Given the description of an element on the screen output the (x, y) to click on. 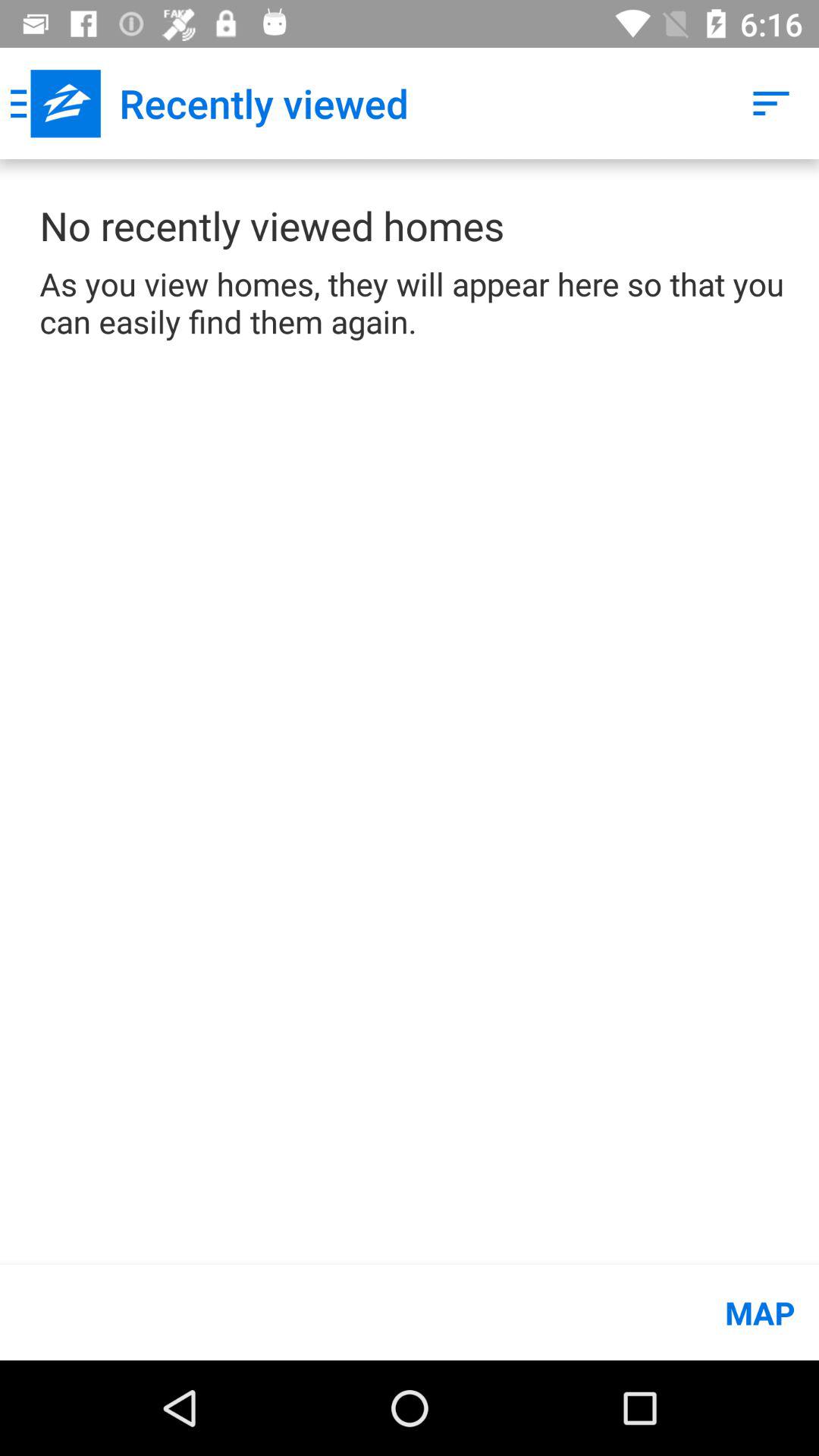
turn off item next to no recently viewed icon (771, 103)
